Given the description of an element on the screen output the (x, y) to click on. 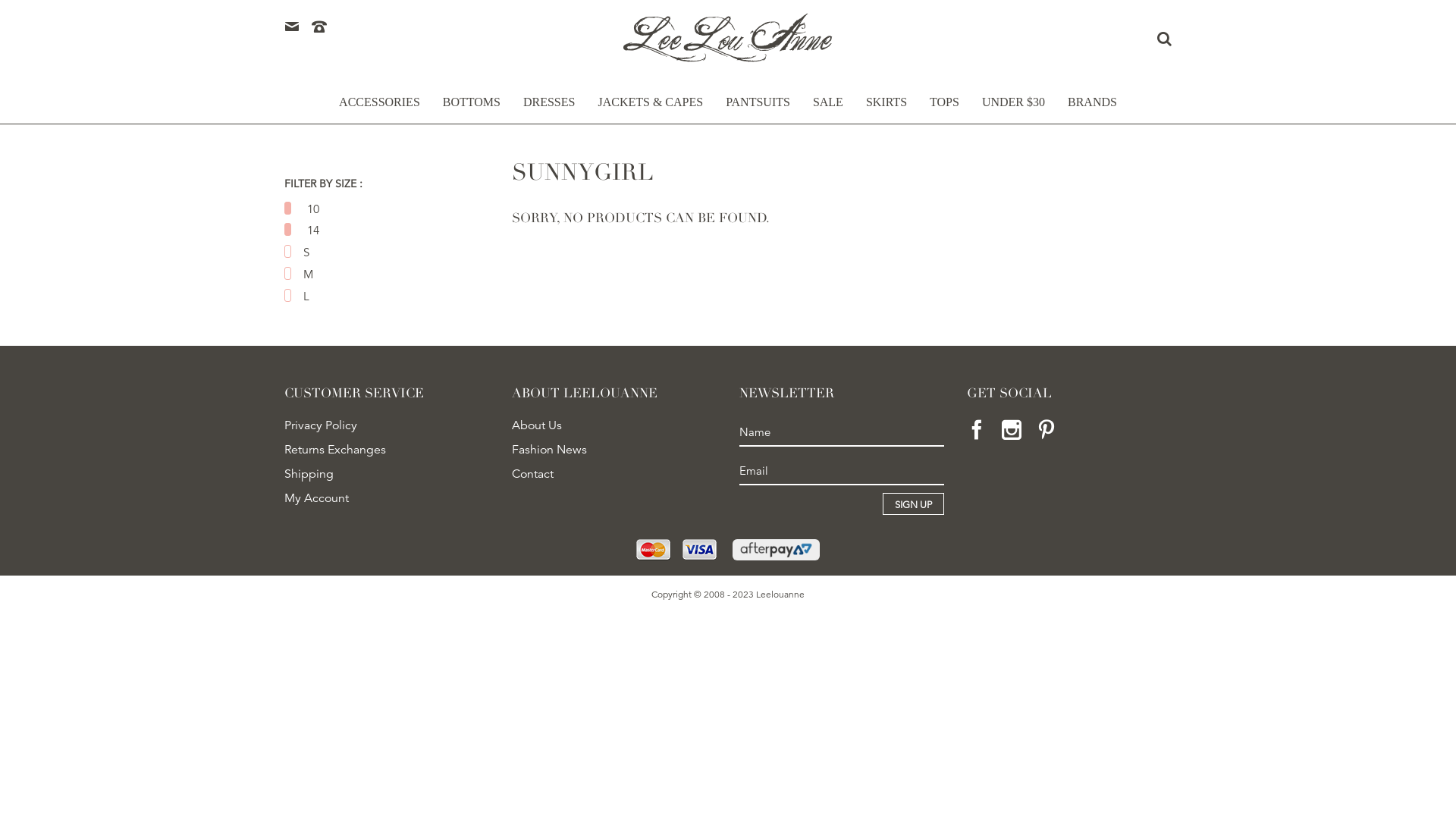
UNDER $30 Element type: text (1013, 109)
Accepted Payments Element type: hover (677, 549)
SALE Element type: text (827, 109)
M Element type: text (396, 274)
Shipping Element type: text (386, 474)
Sign Up Element type: text (913, 503)
SKIRTS Element type: text (886, 109)
JACKETS & CAPES Element type: text (649, 109)
S Element type: text (396, 252)
BOTTOMS Element type: text (471, 109)
Privacy Policy Element type: text (386, 425)
PANTSUITS Element type: text (757, 109)
10 Element type: text (396, 209)
BRANDS Element type: text (1092, 109)
TOPS Element type: text (944, 109)
Returns Exchanges Element type: text (386, 449)
14 Element type: text (396, 230)
About Us Element type: text (613, 425)
DRESSES Element type: text (548, 109)
Contact Element type: text (613, 474)
My Account Element type: text (386, 498)
L Element type: text (396, 296)
Fashion News Element type: text (613, 449)
ACCESSORIES Element type: text (379, 109)
